Given the description of an element on the screen output the (x, y) to click on. 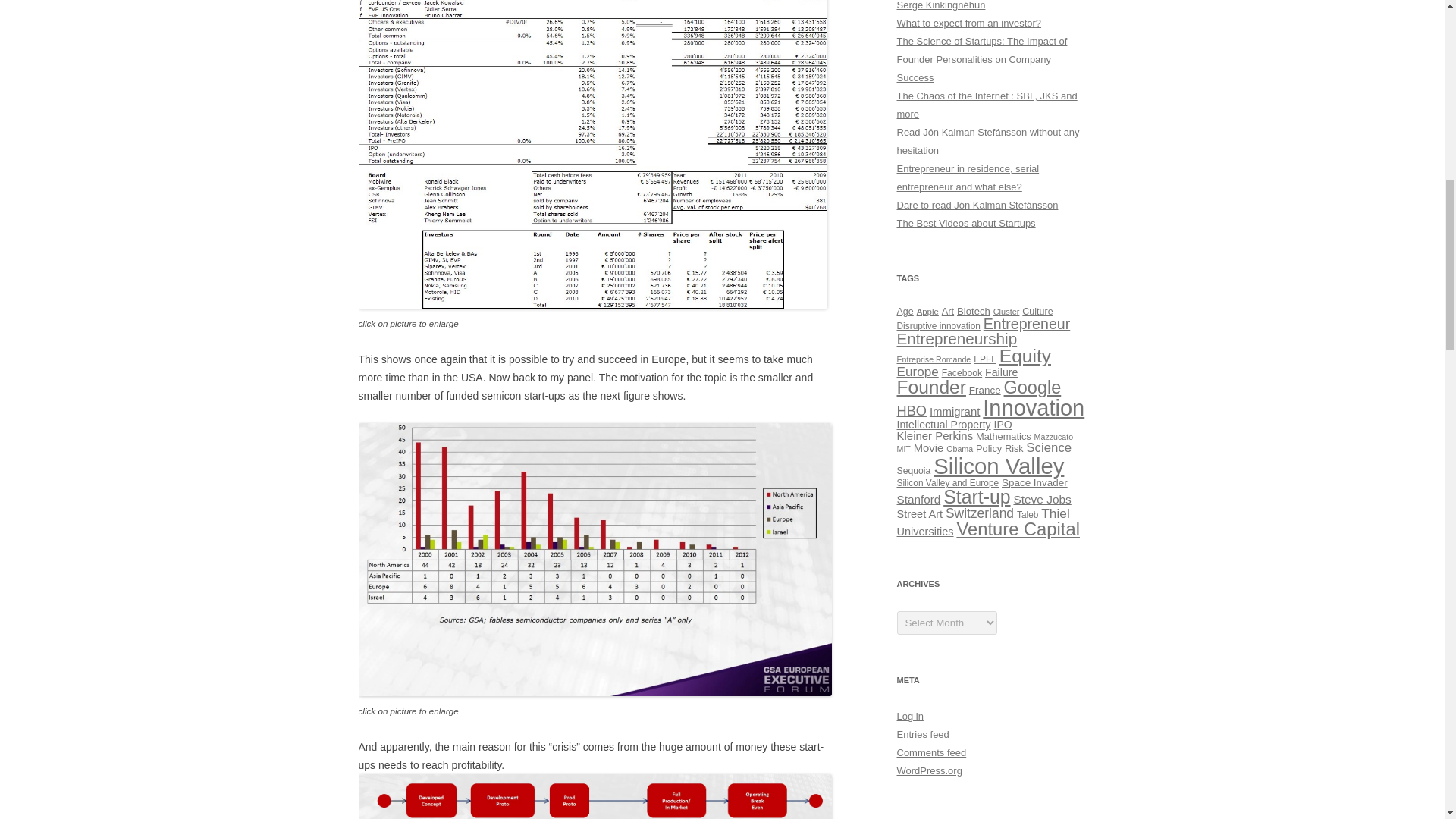
GSA-Semicon-Model (594, 796)
GSA-Semicon-SeriesA (594, 559)
